Given the description of an element on the screen output the (x, y) to click on. 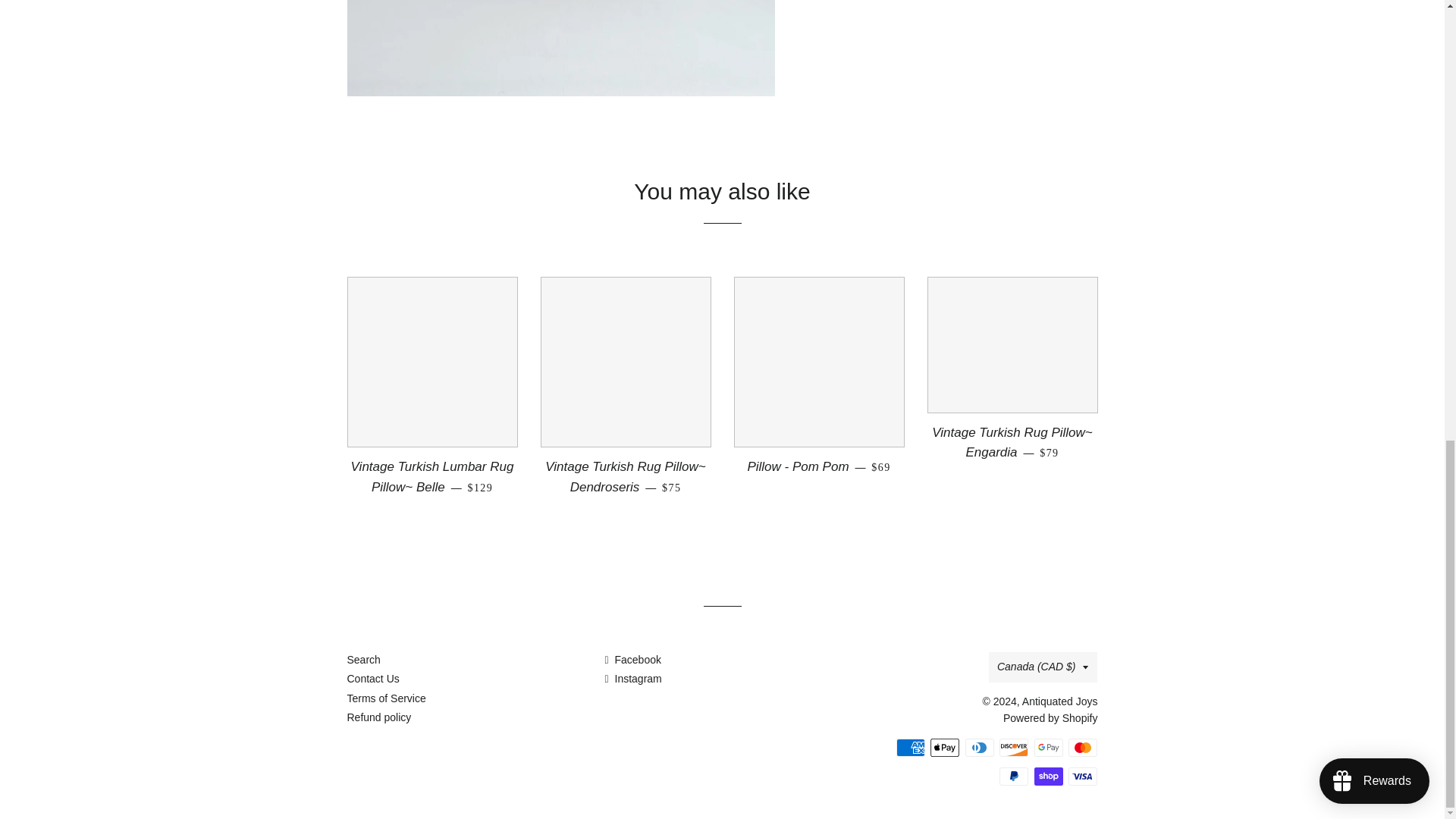
PayPal (1012, 776)
Antiquated Joys on Instagram (632, 678)
American Express (910, 747)
Visa (1082, 776)
Mastercard (1082, 747)
Diners Club (979, 747)
Google Pay (1047, 747)
Discover (1012, 747)
Apple Pay (944, 747)
Antiquated Joys on Facebook (632, 659)
Shop Pay (1047, 776)
